Given the description of an element on the screen output the (x, y) to click on. 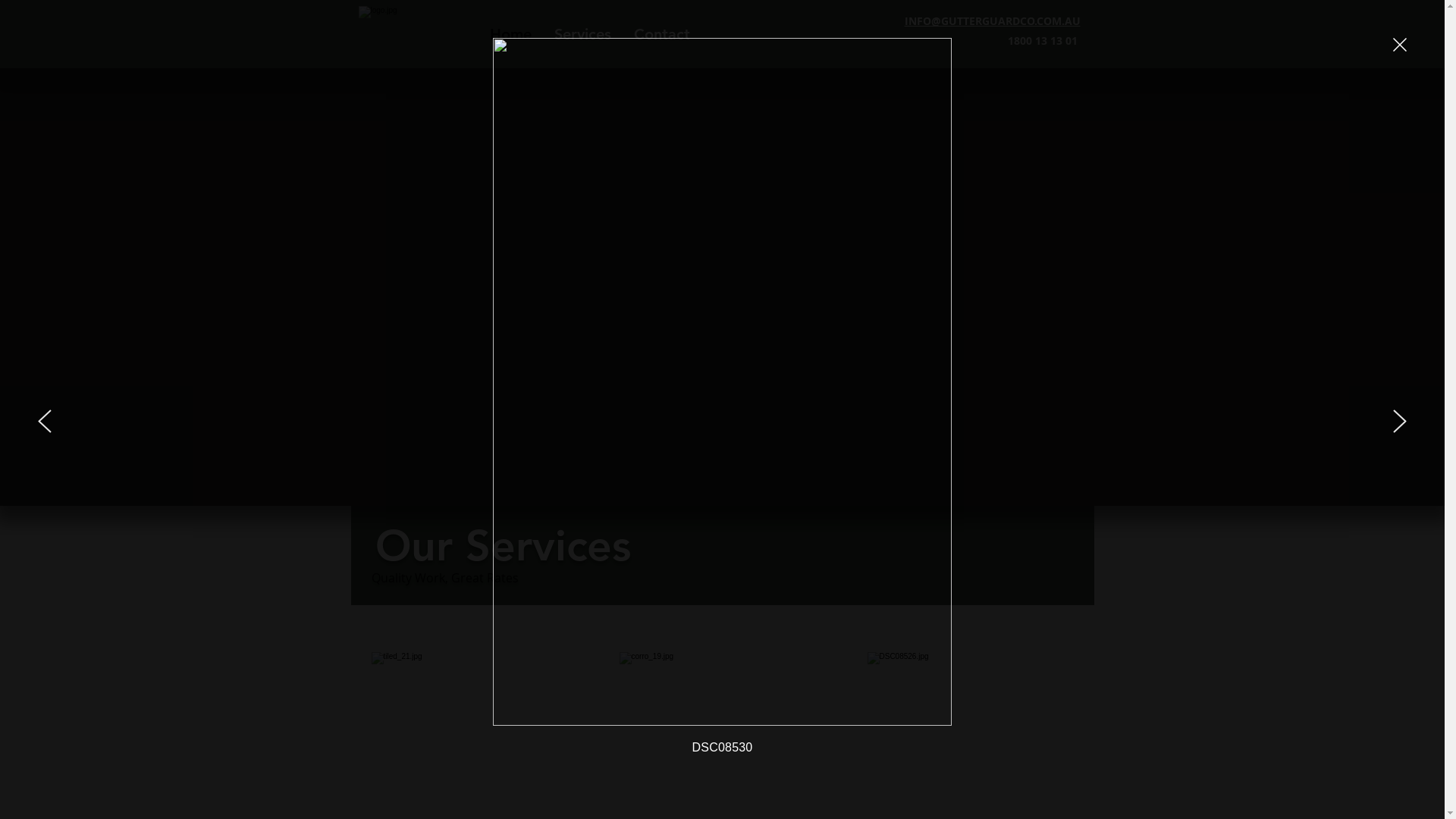
Contact Element type: text (660, 33)
INFO@GUTTERGUARDCO.COM.AU Element type: text (991, 20)
Services Element type: text (582, 33)
Home Element type: text (509, 33)
